Given the description of an element on the screen output the (x, y) to click on. 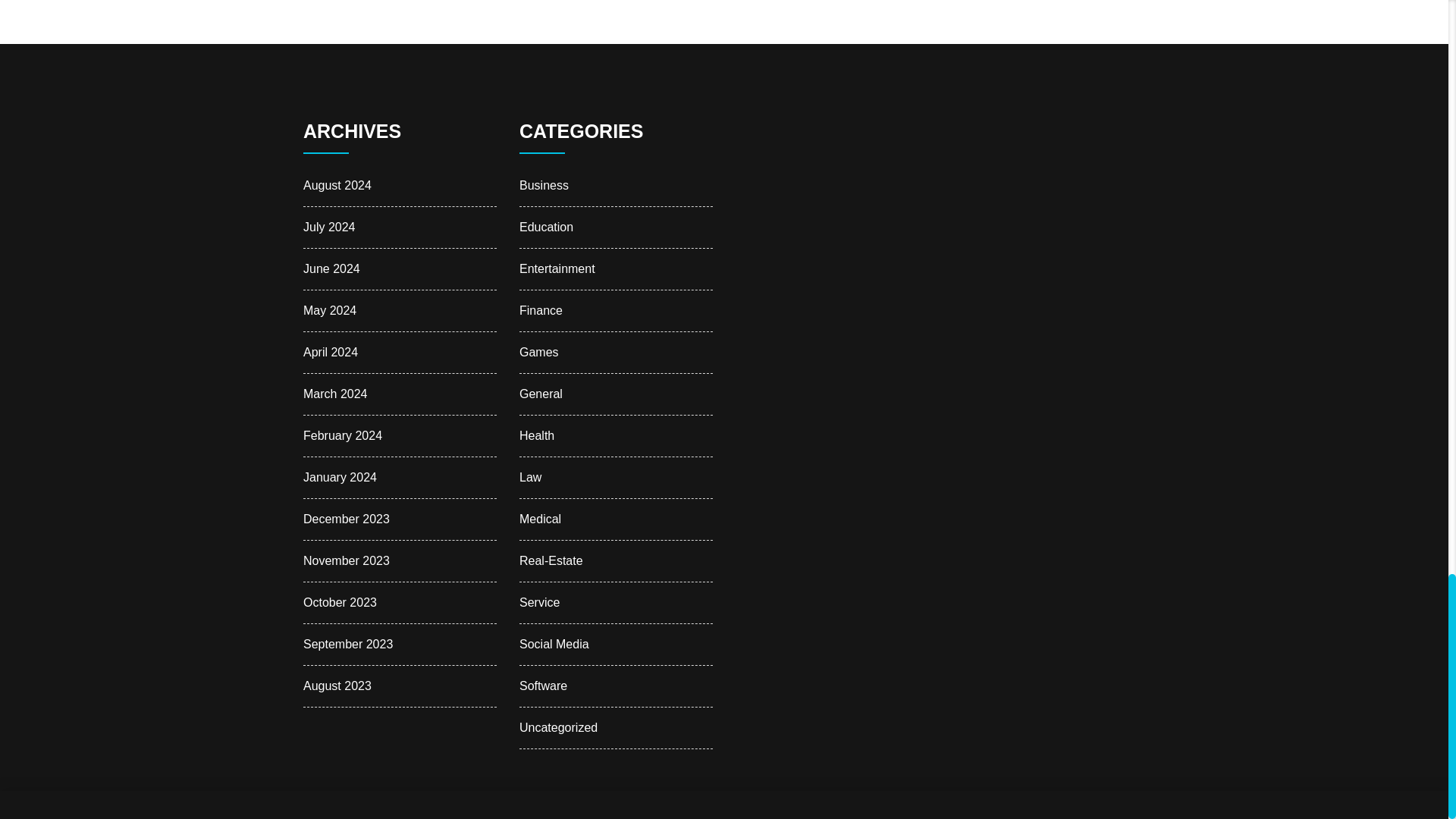
August 2024 (336, 185)
July 2024 (328, 226)
June 2024 (330, 268)
